Given the description of an element on the screen output the (x, y) to click on. 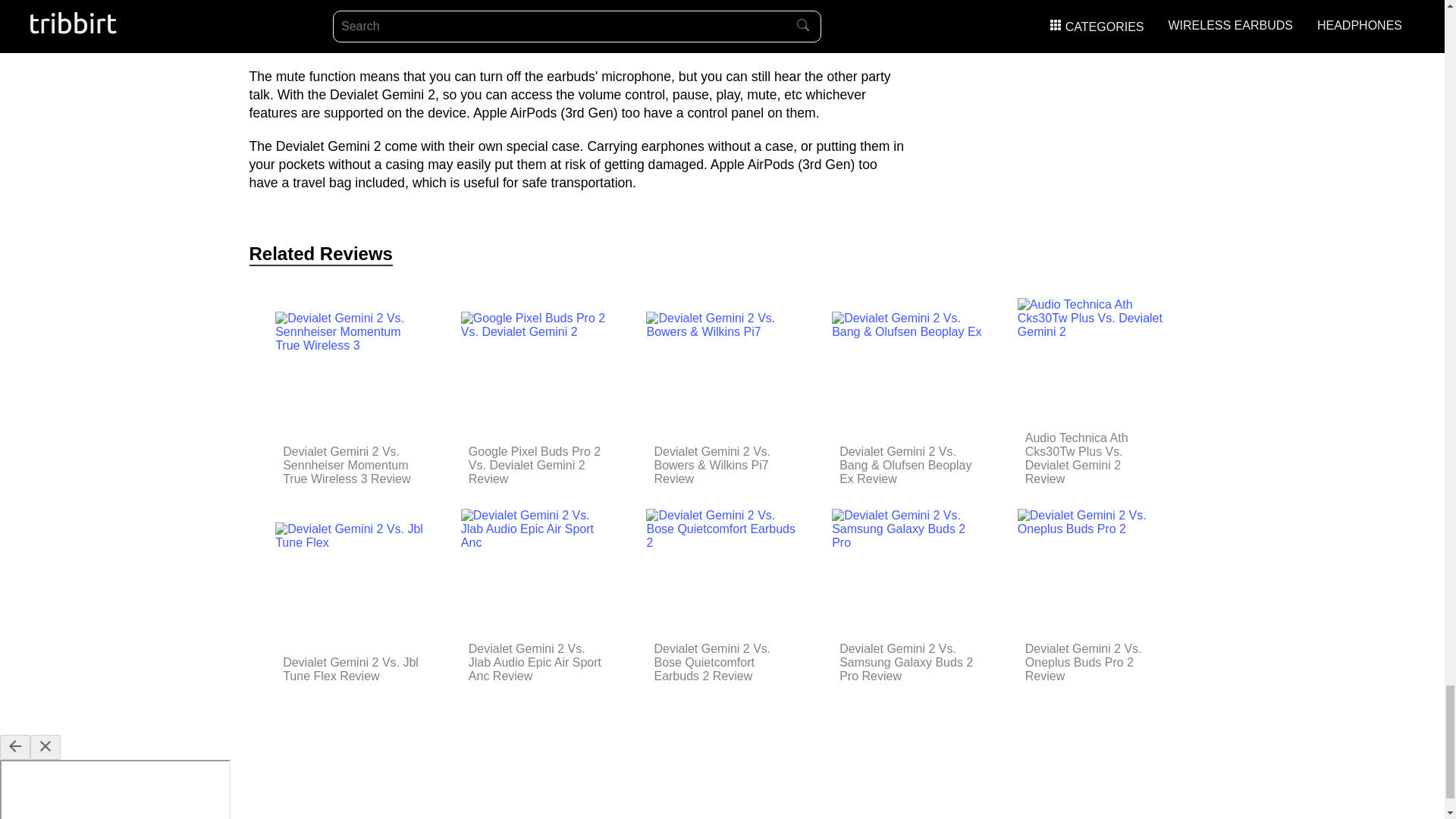
Devialet Gemini 2 Vs. Jlab Audio Epic Air Sport Anc Review (536, 662)
Devialet Gemini 2 Vs. Oneplus Buds Pro 2 Review (1093, 662)
Devialet Gemini 2 Vs. Bose Quietcomfort Earbuds 2 Review (721, 662)
Devialet Gemini 2 Vs. Jbl Tune Flex Review (350, 669)
Devialet Gemini 2 Vs. Samsung Galaxy Buds 2 Pro Review (907, 662)
Google Pixel Buds Pro 2 Vs. Devialet Gemini 2 Review (536, 465)
Audio Technica Ath Cks30Tw Plus Vs. Devialet Gemini 2 Review (1093, 458)
